Given the description of an element on the screen output the (x, y) to click on. 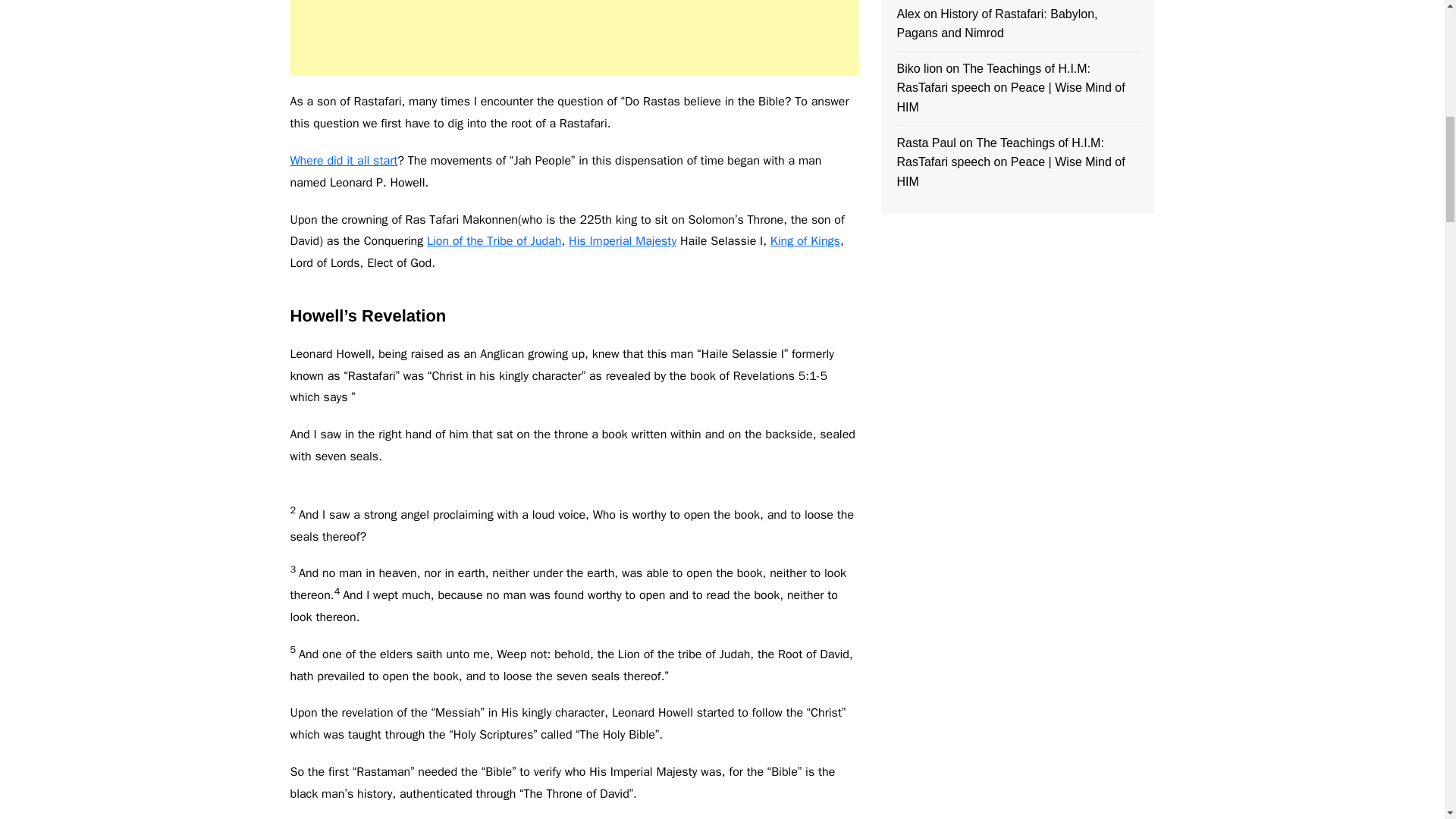
Where did it all start (343, 160)
His Imperial Majesty (623, 240)
Lion of the Tribe of Judah (493, 240)
Lion of the Tribe of Judah (493, 240)
Emperor of Ethiopia (805, 240)
Advertisement (574, 38)
King of Kings (805, 240)
His Imperial Majesty (623, 240)
